Given the description of an element on the screen output the (x, y) to click on. 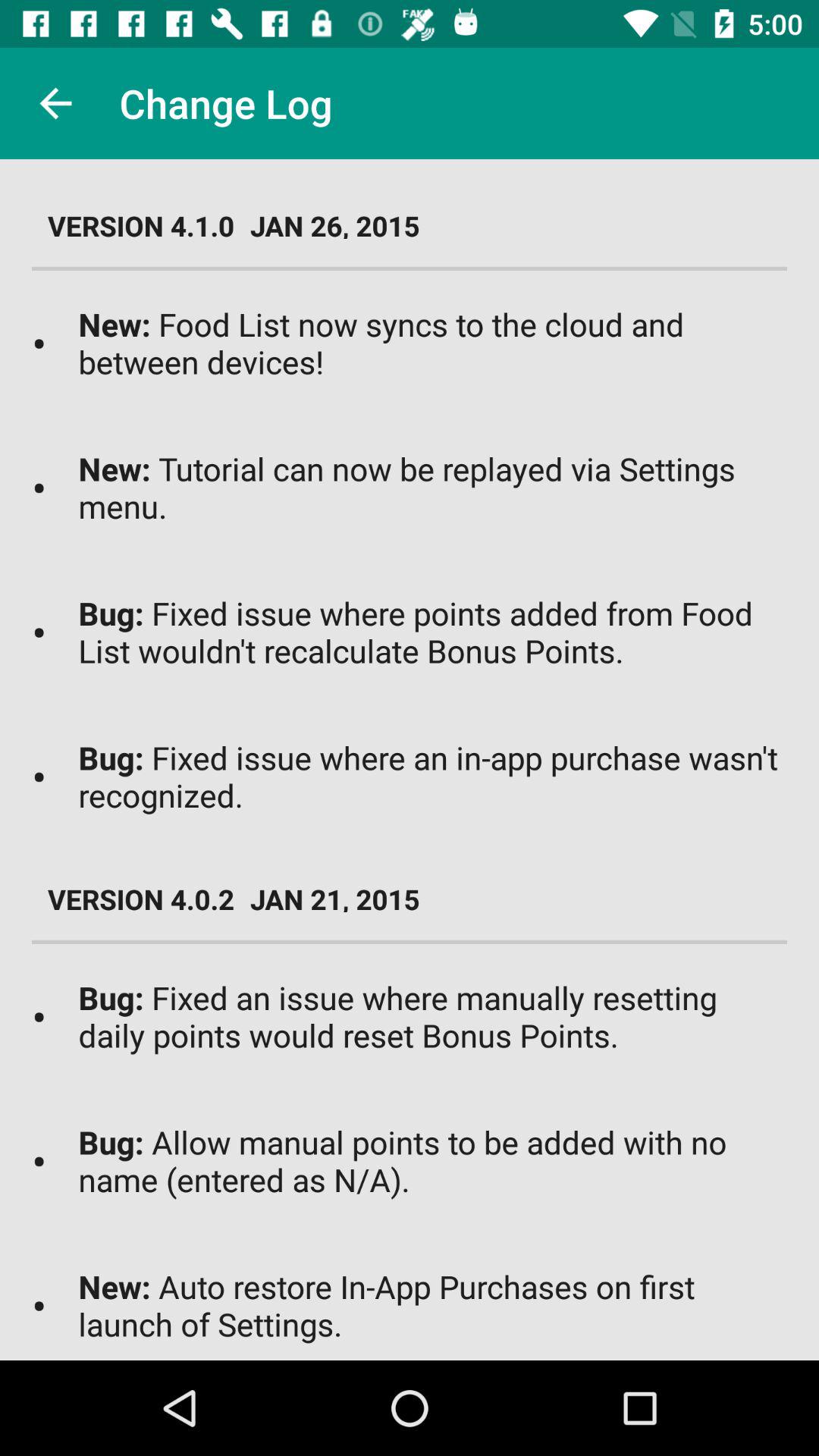
tap item next to change log (55, 103)
